Given the description of an element on the screen output the (x, y) to click on. 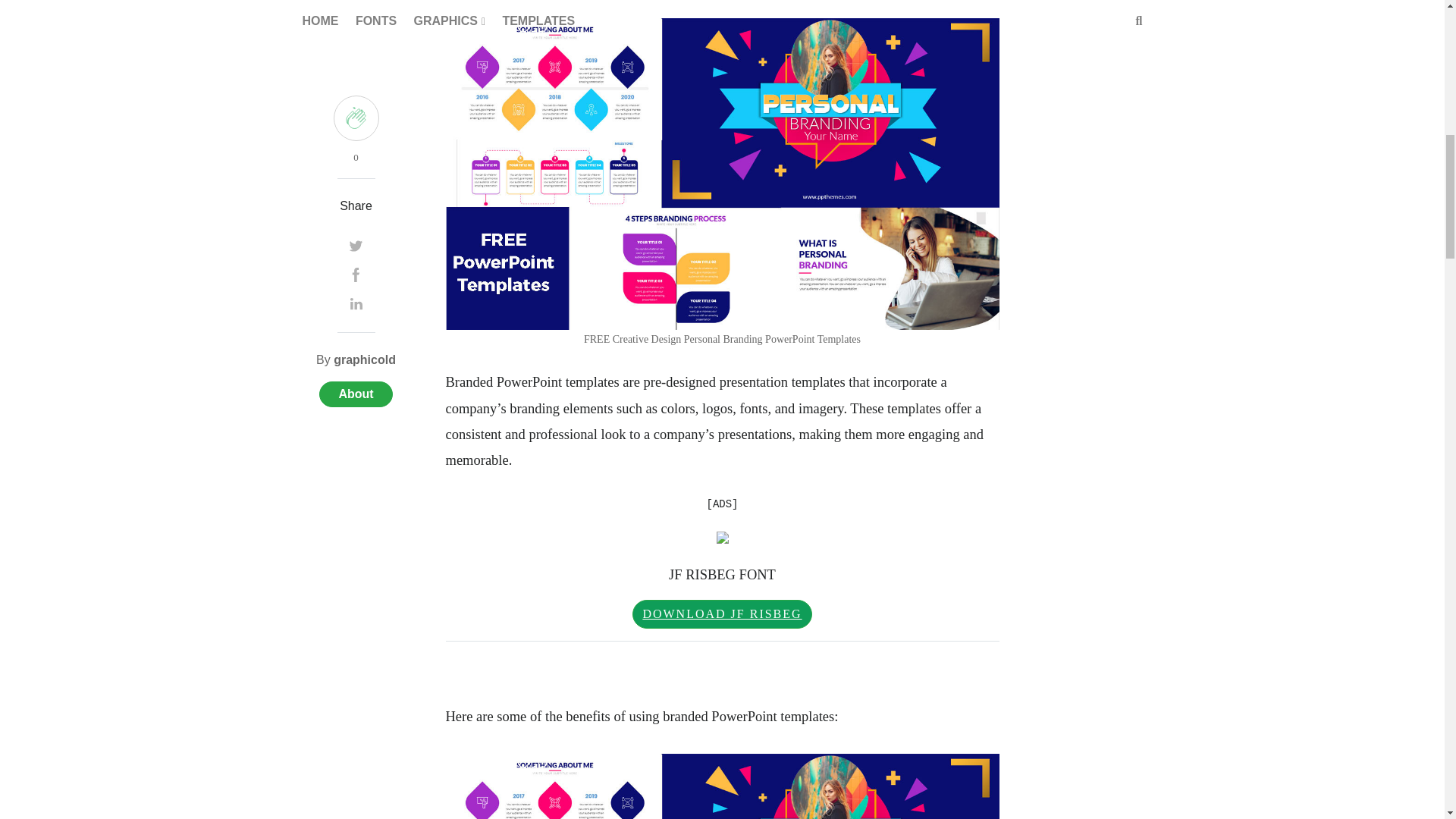
DOWNLOAD JF RISBEG (720, 613)
